Given the description of an element on the screen output the (x, y) to click on. 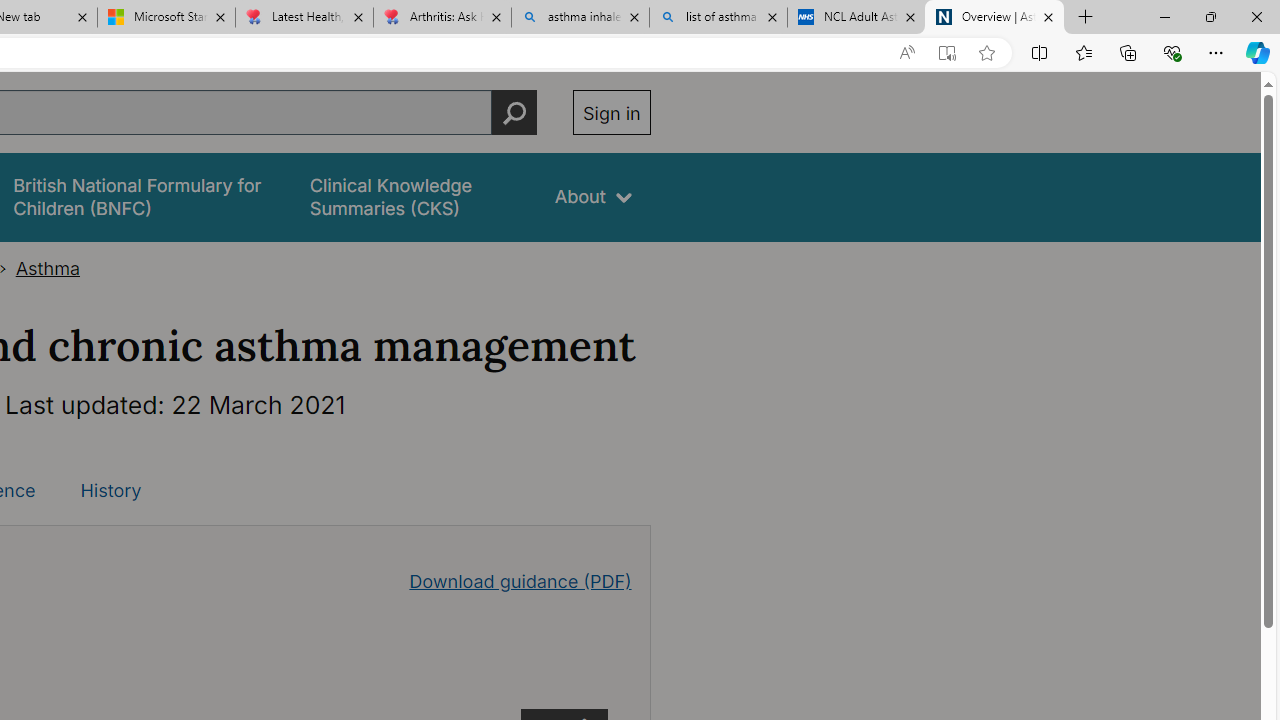
Perform search (514, 112)
History (110, 490)
false (413, 196)
Download guidance (PDF) (520, 580)
